Given the description of an element on the screen output the (x, y) to click on. 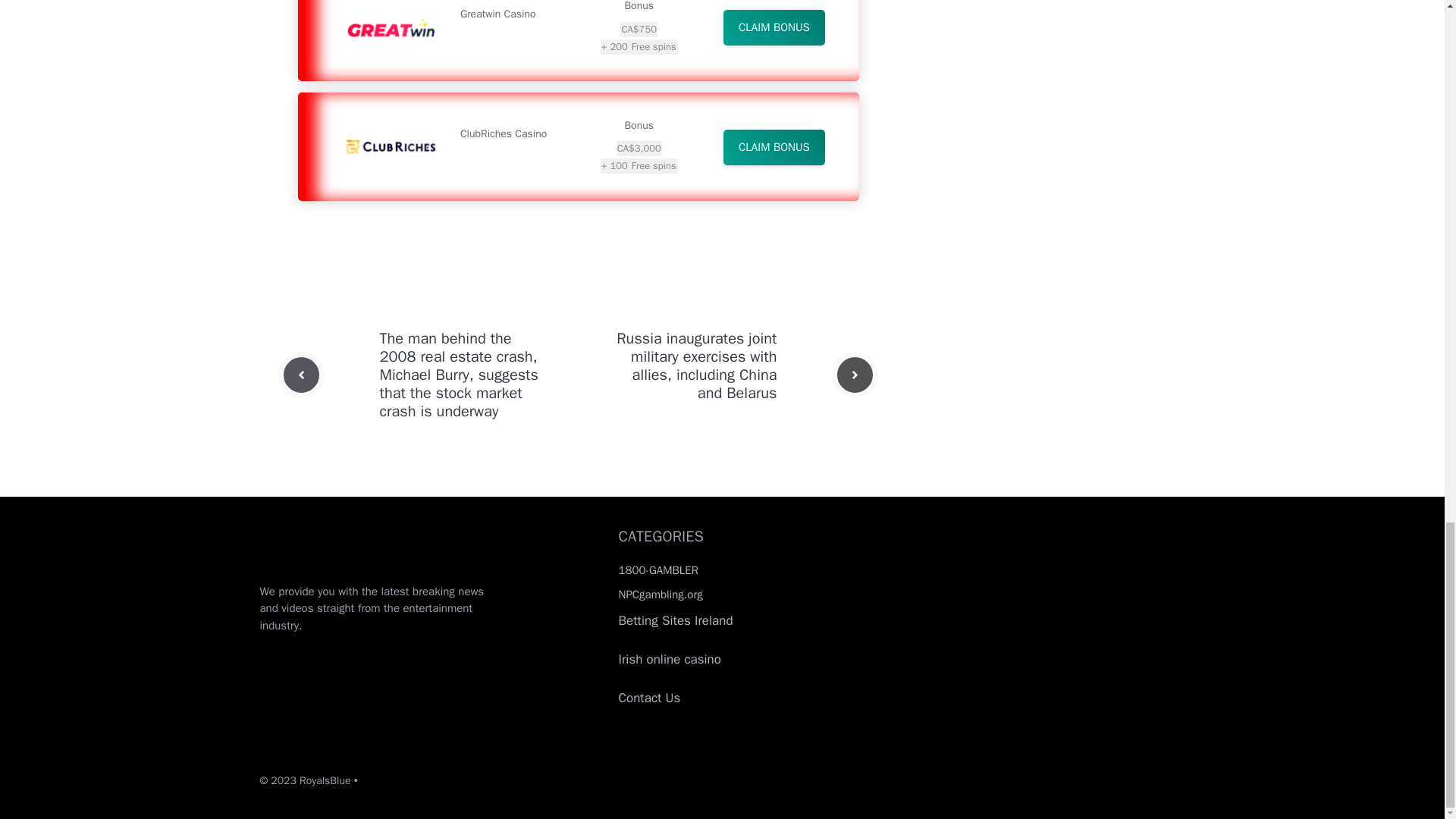
Scroll back to top (1406, 71)
